Given the description of an element on the screen output the (x, y) to click on. 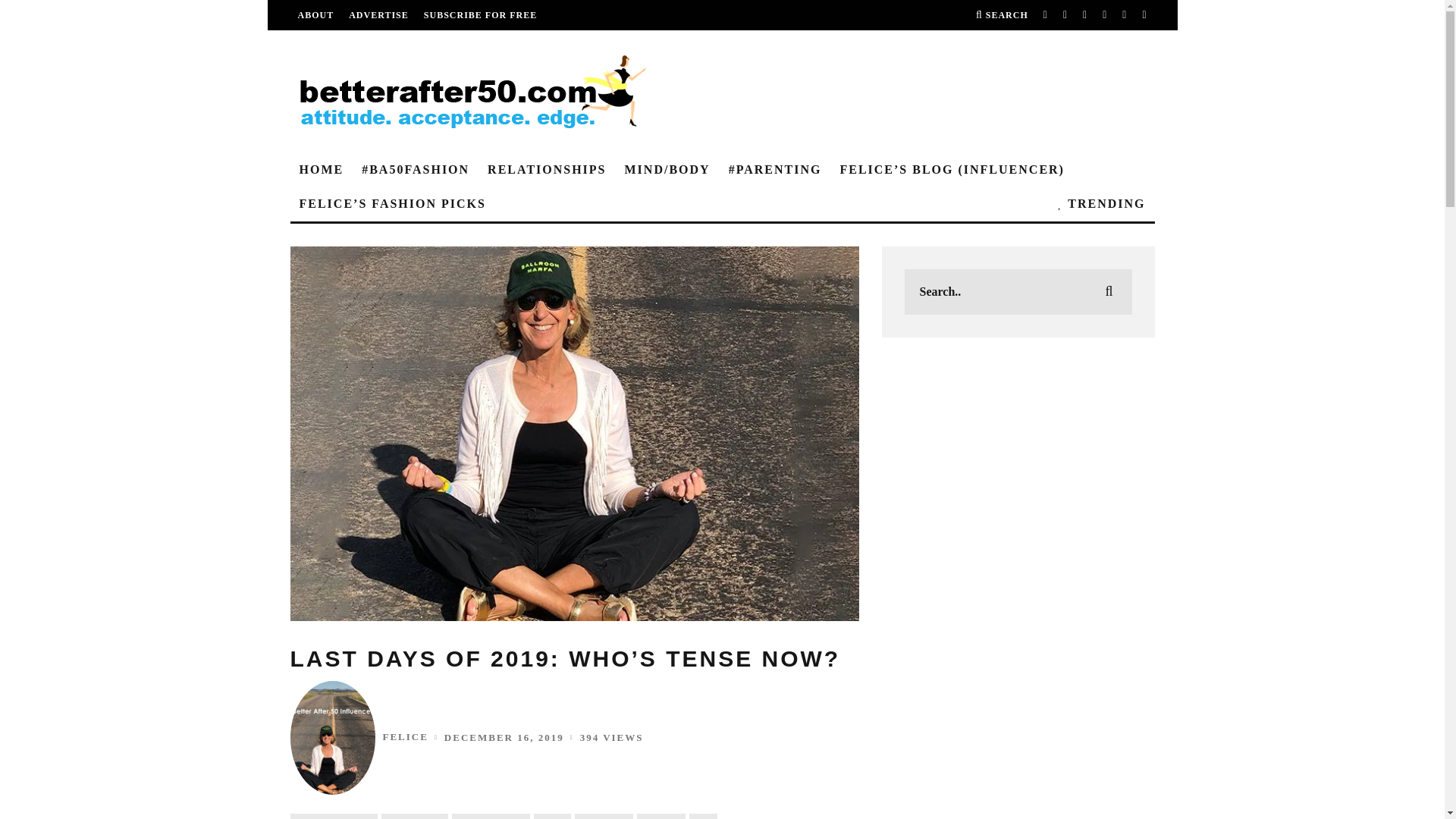
ABOUT (315, 15)
ADVERTISE (379, 15)
View all posts in Felice's Blog (414, 816)
HOME (320, 170)
SEARCH (1001, 15)
RELATIONSHIPS (546, 170)
View all posts in Healthy Monday (490, 816)
View all posts in Humor (552, 816)
View all posts in Featured Articles (333, 816)
SUBSCRIBE FOR FREE (480, 15)
